Given the description of an element on the screen output the (x, y) to click on. 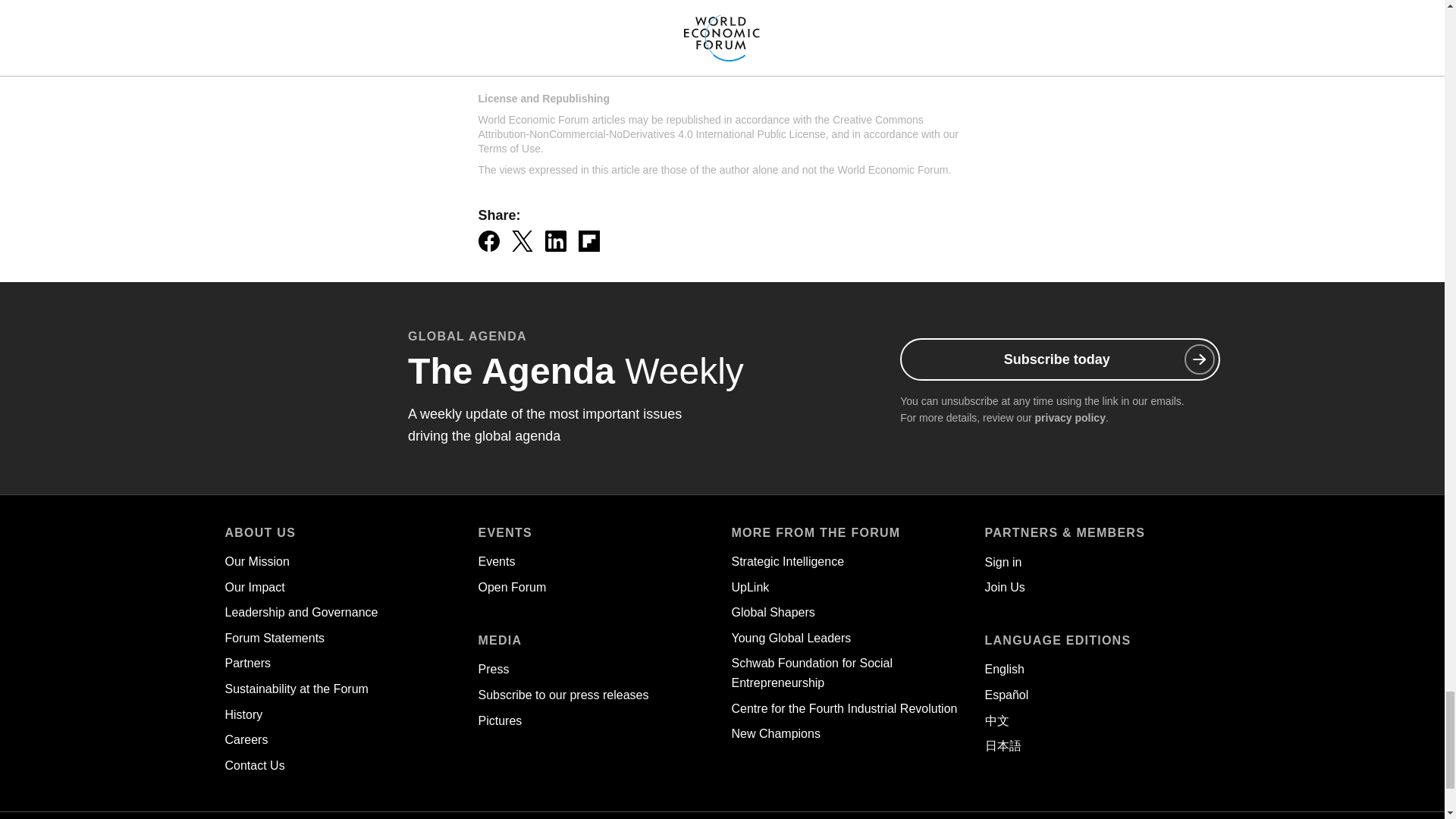
Our Mission (256, 561)
Events (496, 561)
Subscribe today (1059, 359)
Careers (245, 739)
privacy policy (1070, 417)
Sustainability at the Forum (296, 688)
Sign up for free (869, 17)
Our Impact (253, 586)
Partners (246, 662)
Leadership and Governance (300, 612)
